Given the description of an element on the screen output the (x, y) to click on. 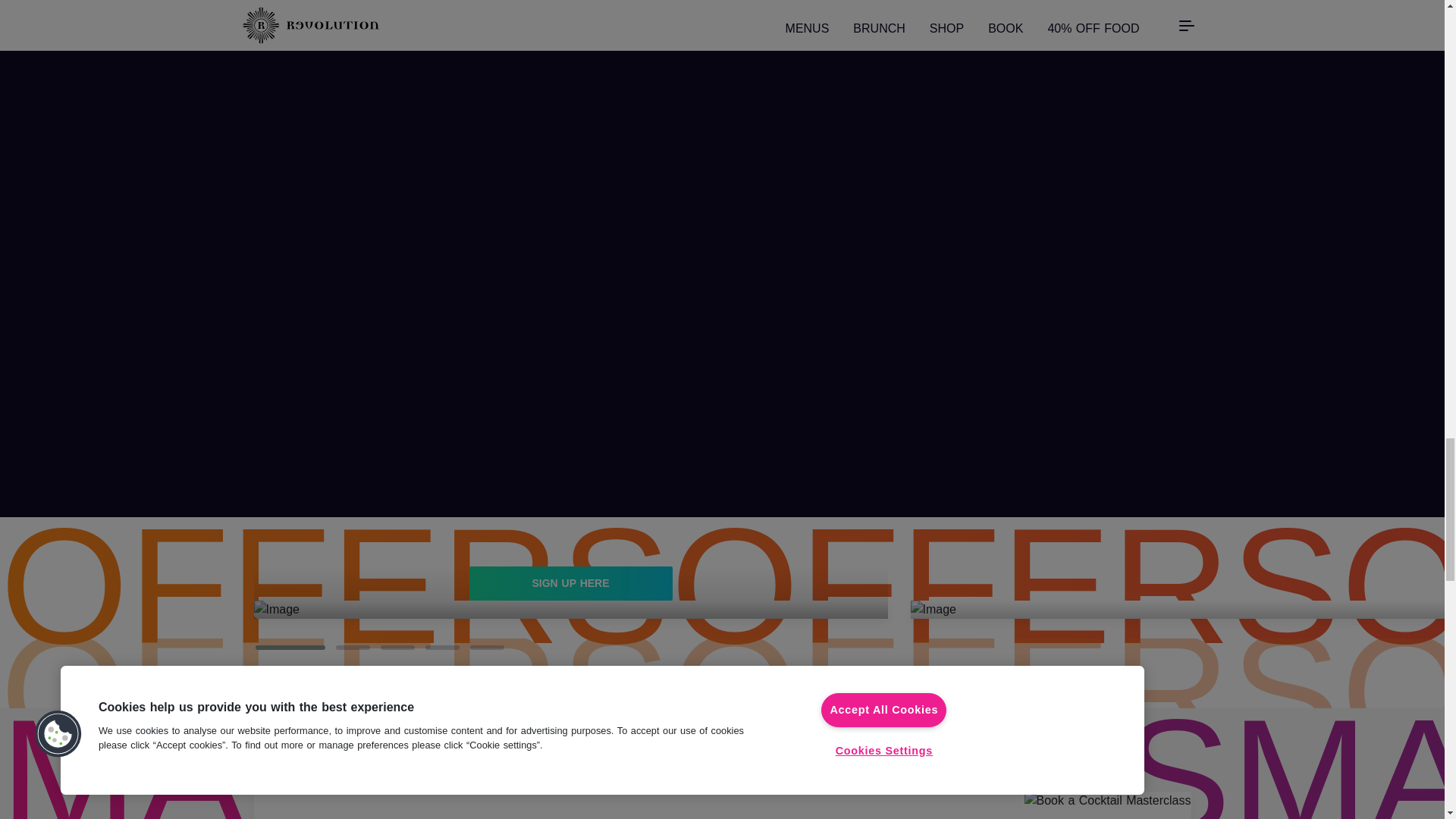
SIGN UP HERE (569, 583)
